Given the description of an element on the screen output the (x, y) to click on. 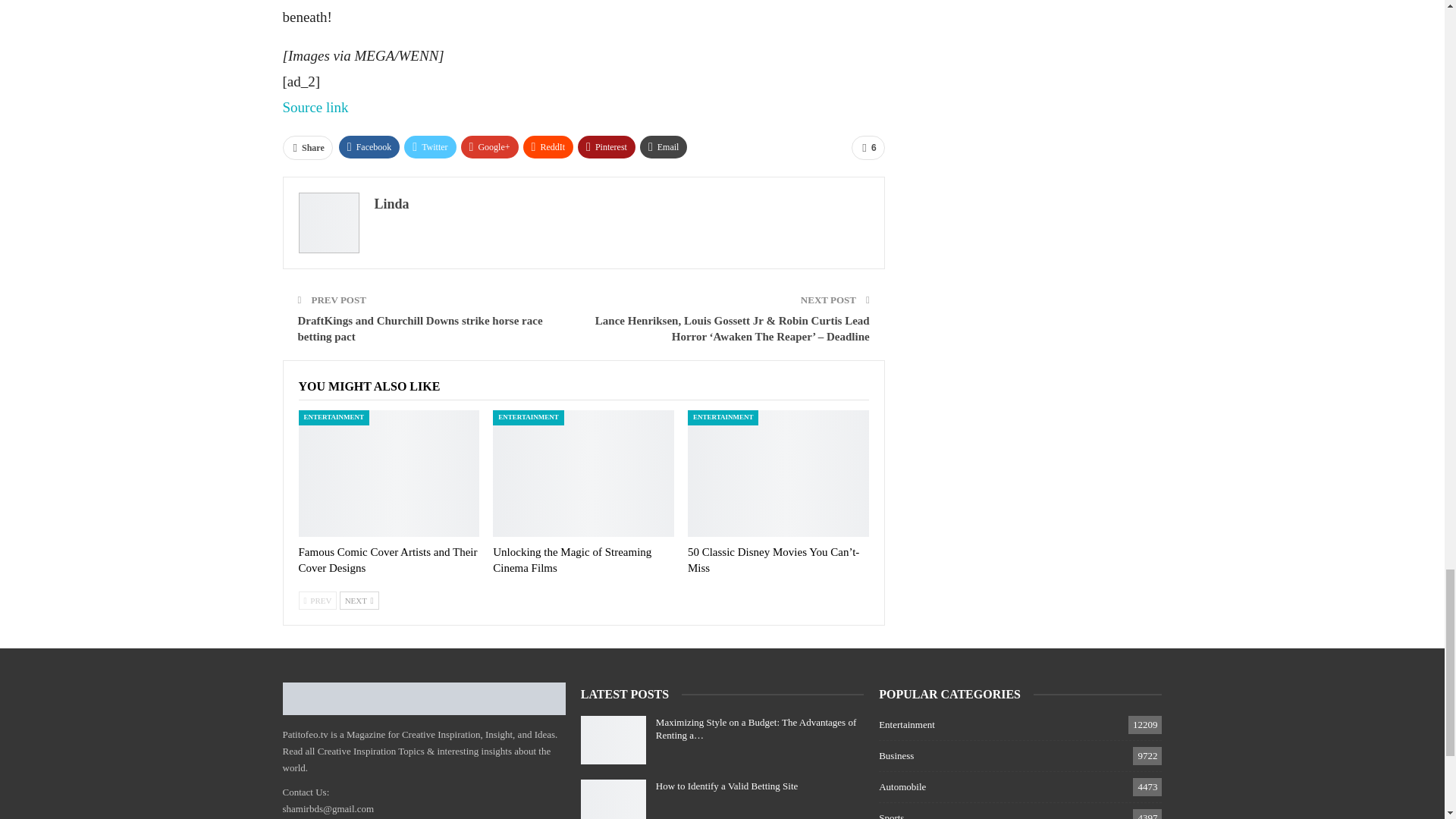
Unlocking the Magic of Streaming Cinema Films (583, 473)
Next (358, 600)
Famous Comic Cover Artists and Their Cover Designs (389, 473)
Famous Comic Cover Artists and Their Cover Designs (387, 560)
Previous (317, 600)
Unlocking the Magic of Streaming Cinema Films (571, 560)
